Given the description of an element on the screen output the (x, y) to click on. 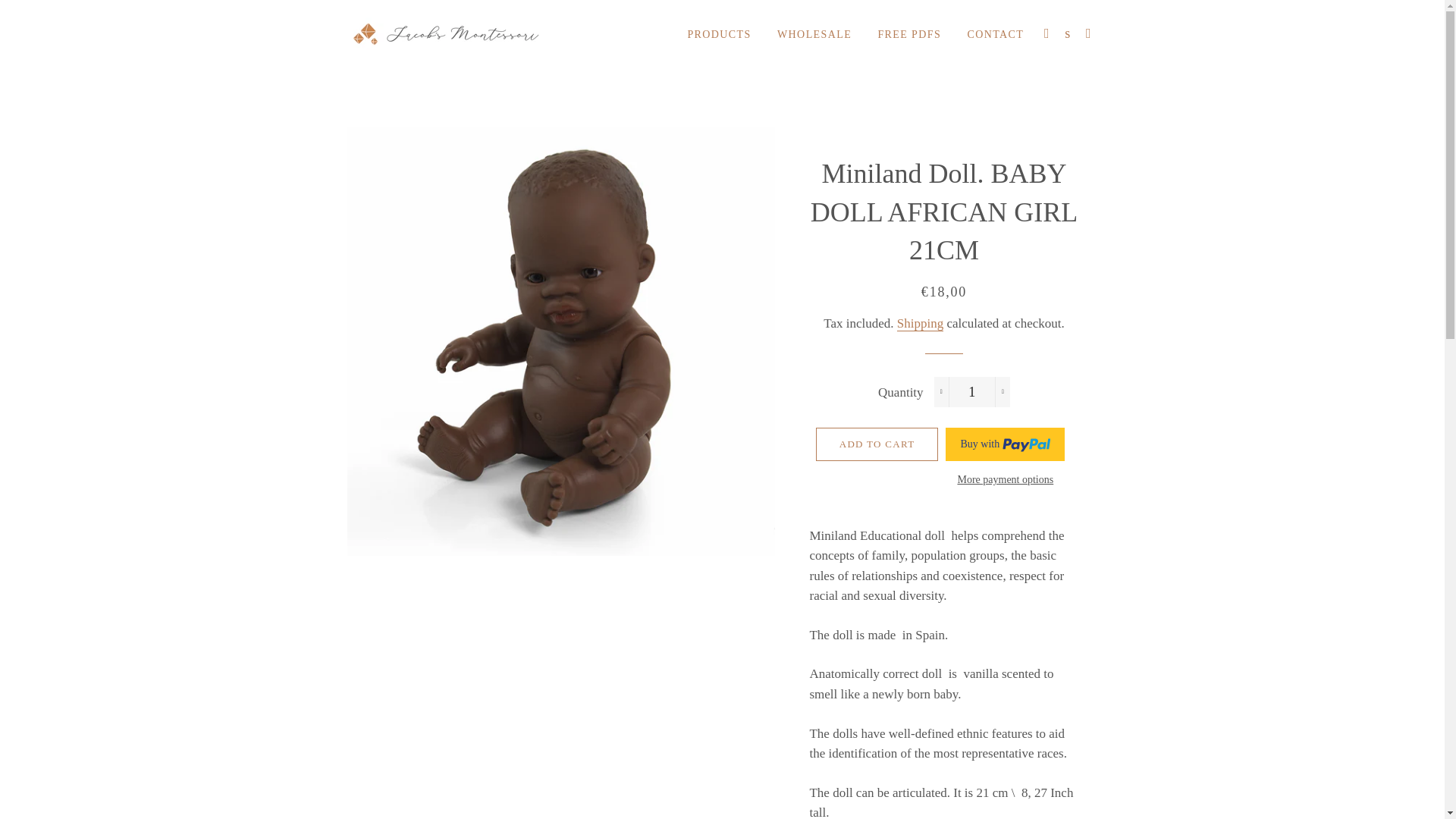
Shipping (919, 323)
1 (972, 391)
LOG IN (1046, 33)
SEARCH (1068, 33)
CONTACT (995, 34)
PRODUCTS (718, 34)
ADD TO CART (877, 444)
CART (1088, 33)
WHOLESALE (814, 34)
FREE PDFS (909, 34)
More payment options (1004, 479)
